Given the description of an element on the screen output the (x, y) to click on. 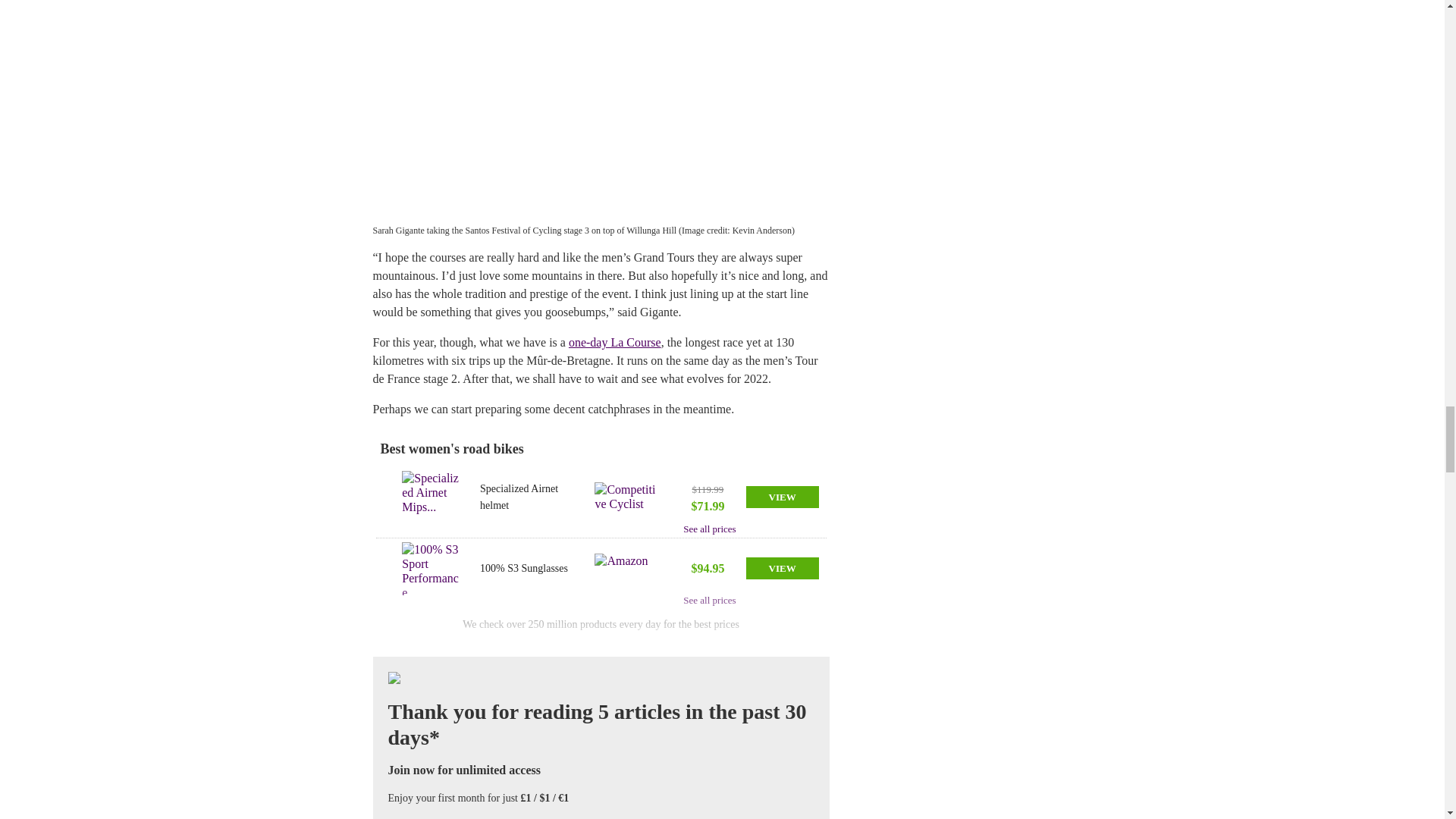
Competitive Cyclist (624, 497)
Amazon (624, 568)
Specialized Airnet Mips... (431, 497)
